Given the description of an element on the screen output the (x, y) to click on. 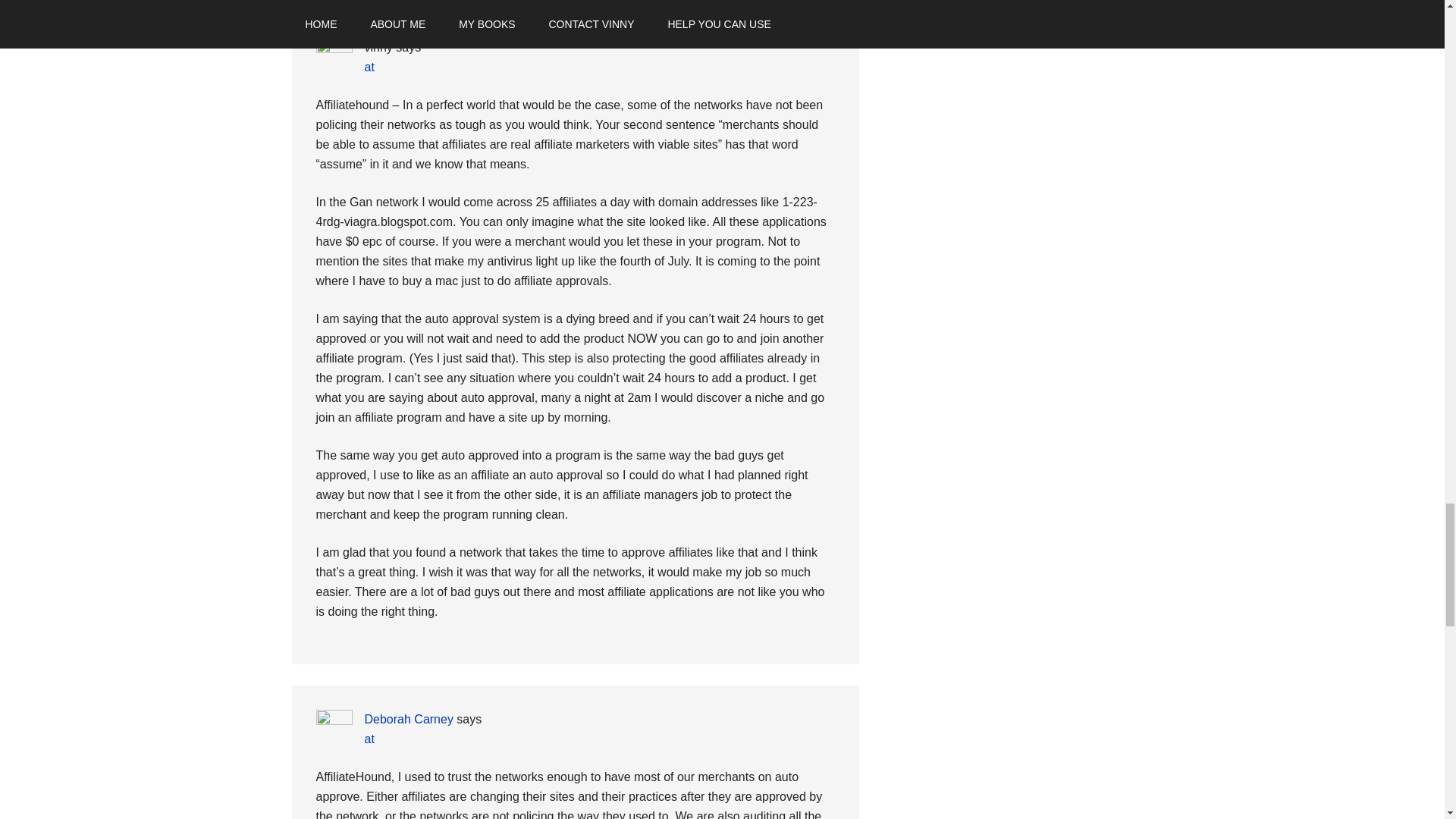
at (369, 66)
at (369, 738)
Deborah Carney (408, 718)
